Given the description of an element on the screen output the (x, y) to click on. 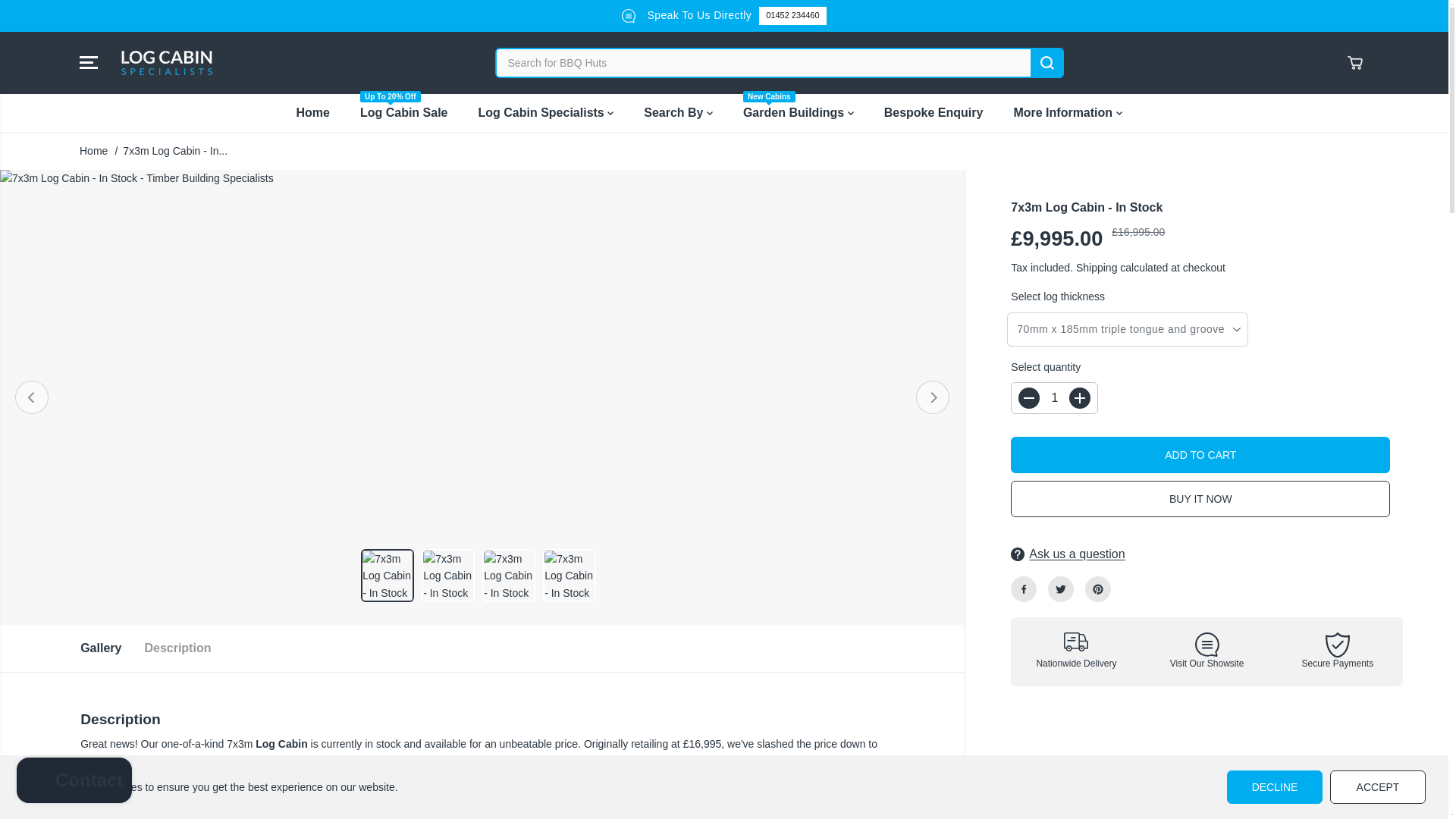
SKIP TO CONTENT (60, 18)
1 (1053, 398)
Home (323, 112)
01452 234460 (791, 15)
Cart (1354, 62)
